Given the description of an element on the screen output the (x, y) to click on. 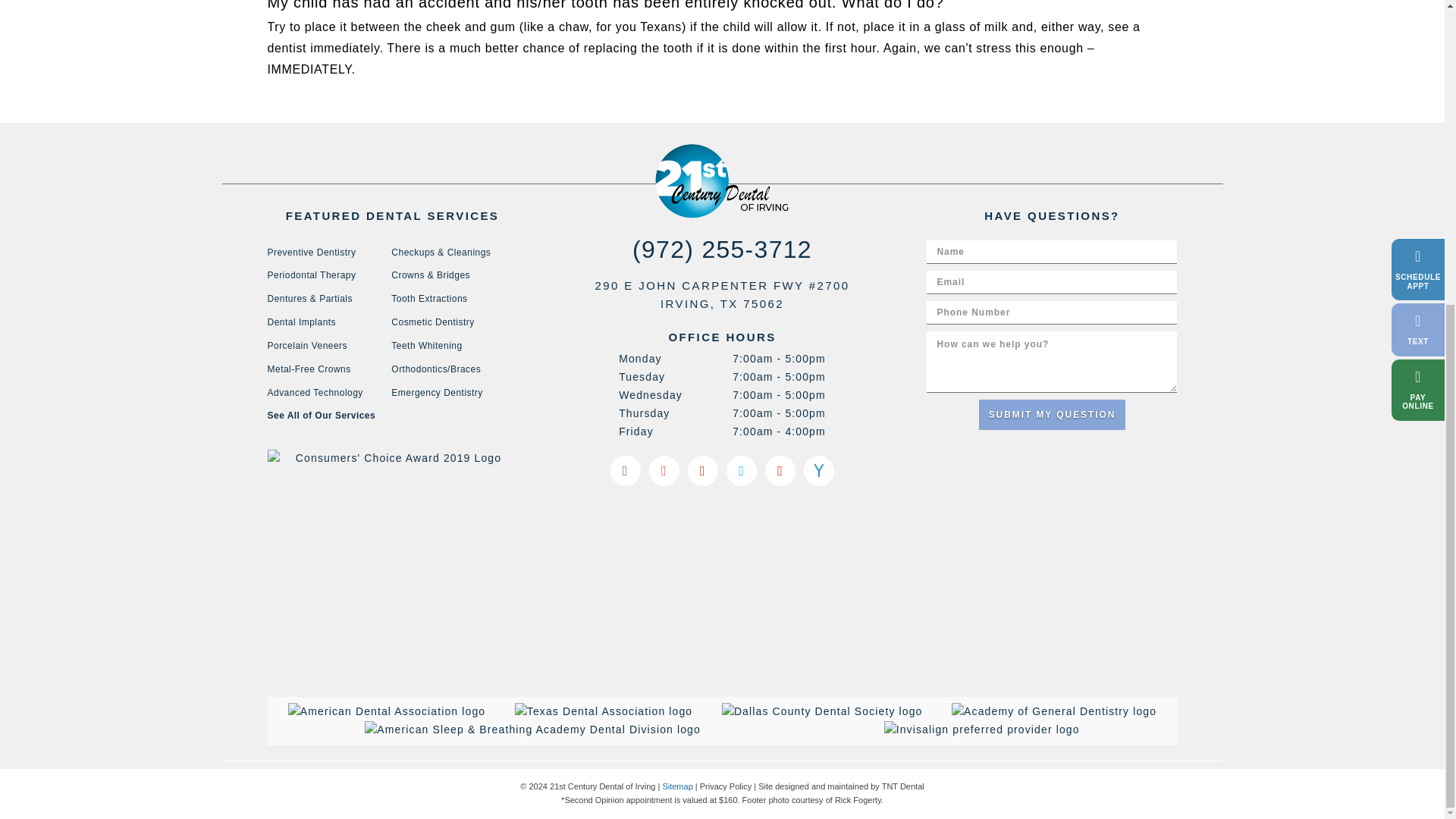
Submit My Question (1051, 414)
